Given the description of an element on the screen output the (x, y) to click on. 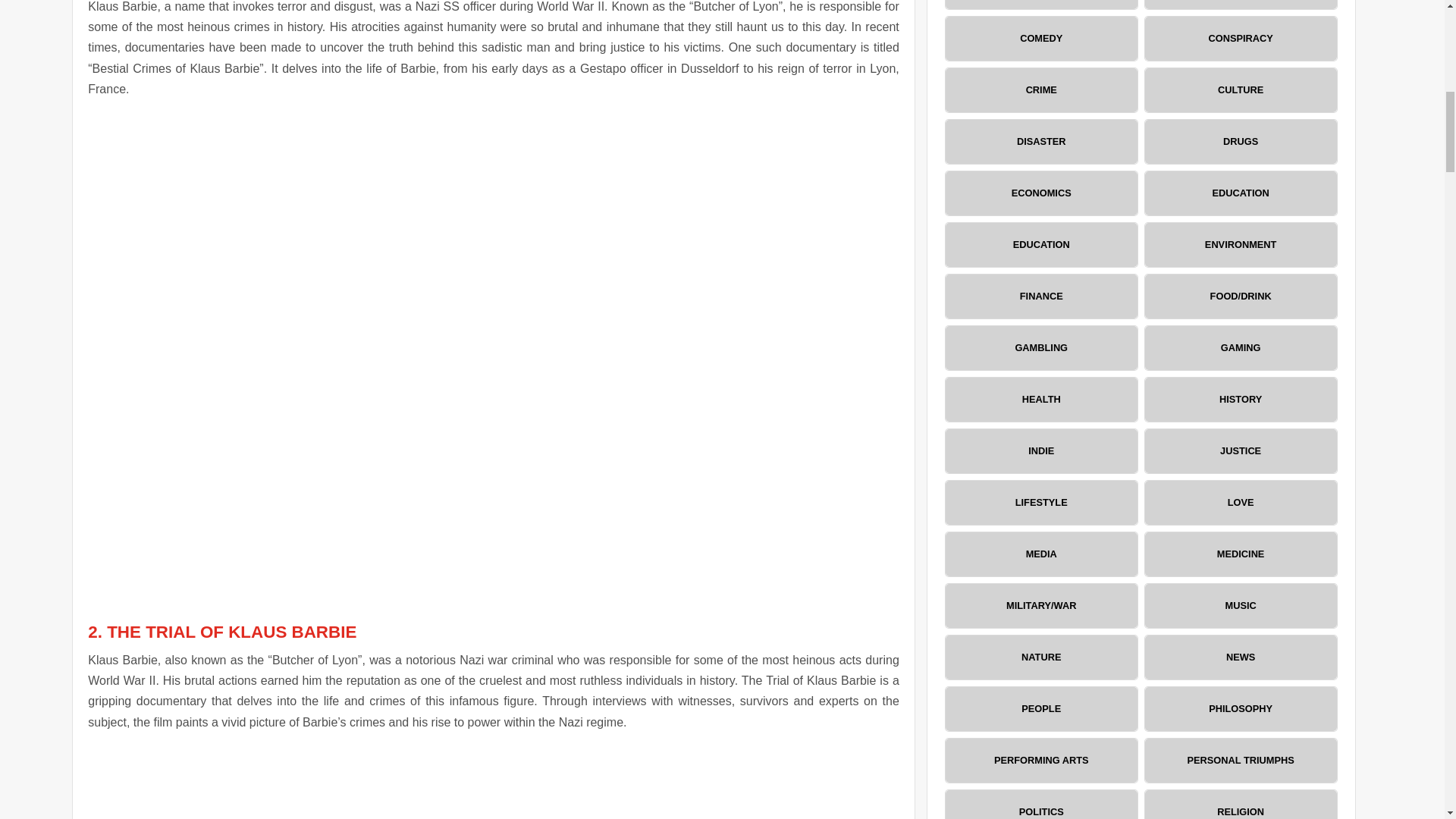
ECONOMICS (1040, 193)
DISASTER (1040, 141)
CELEBRITIES (1240, 4)
BUSINESS (1040, 4)
The Trial of Klaus Barbie (493, 781)
EDUCATION (1240, 193)
COMEDY (1040, 38)
CONSPIRACY (1240, 38)
DRUGS (1240, 141)
CRIME (1040, 89)
CULTURE (1240, 89)
